Given the description of an element on the screen output the (x, y) to click on. 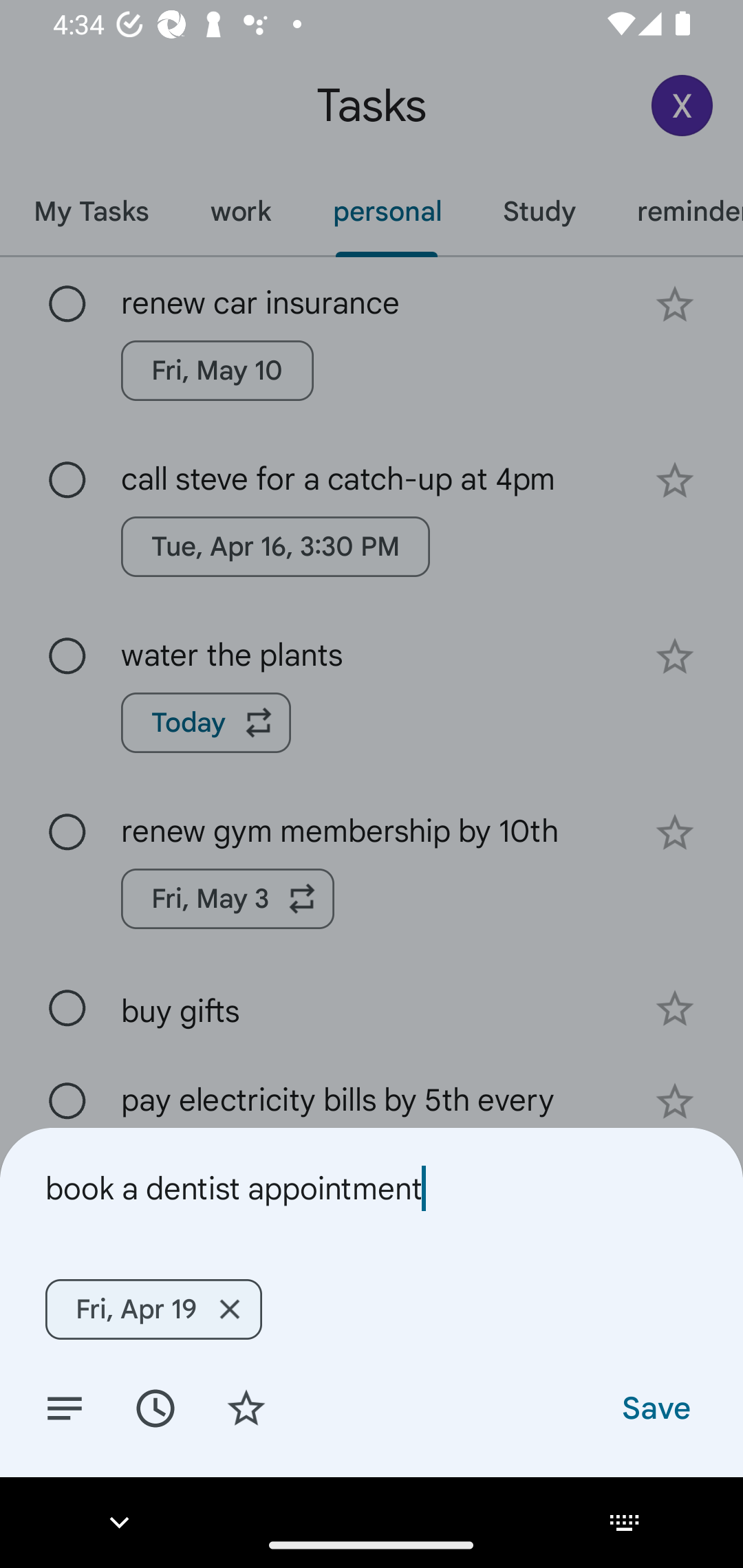
book a dentist appointment (371, 1188)
Fri, Apr 19 Remove Fri, Apr 19 (153, 1308)
Save (655, 1407)
Add details (64, 1407)
Set date/time (154, 1407)
Add star (245, 1407)
